Given the description of an element on the screen output the (x, y) to click on. 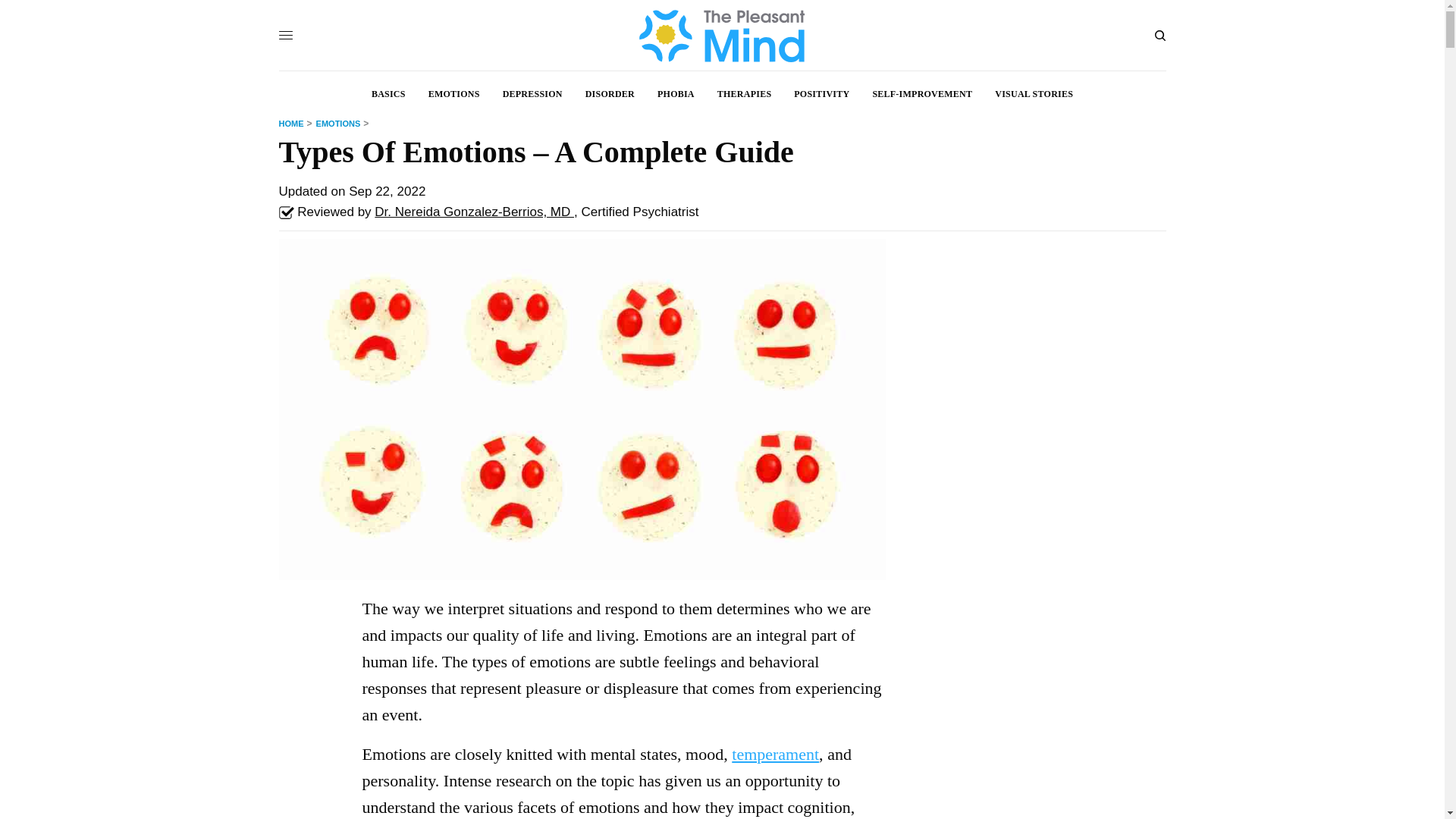
EMOTIONS (343, 122)
POSITIVITY (820, 94)
DEPRESSION (532, 94)
DISORDER (609, 94)
THERAPIES (744, 94)
SELF-IMPROVEMENT (922, 94)
temperament (775, 753)
ThePleasantMind.com (720, 35)
VISUAL STORIES (1033, 94)
HOME (296, 122)
EMOTIONS (454, 94)
Dr. Nereida Gonzalez-Berrios, MD (473, 211)
